Given the description of an element on the screen output the (x, y) to click on. 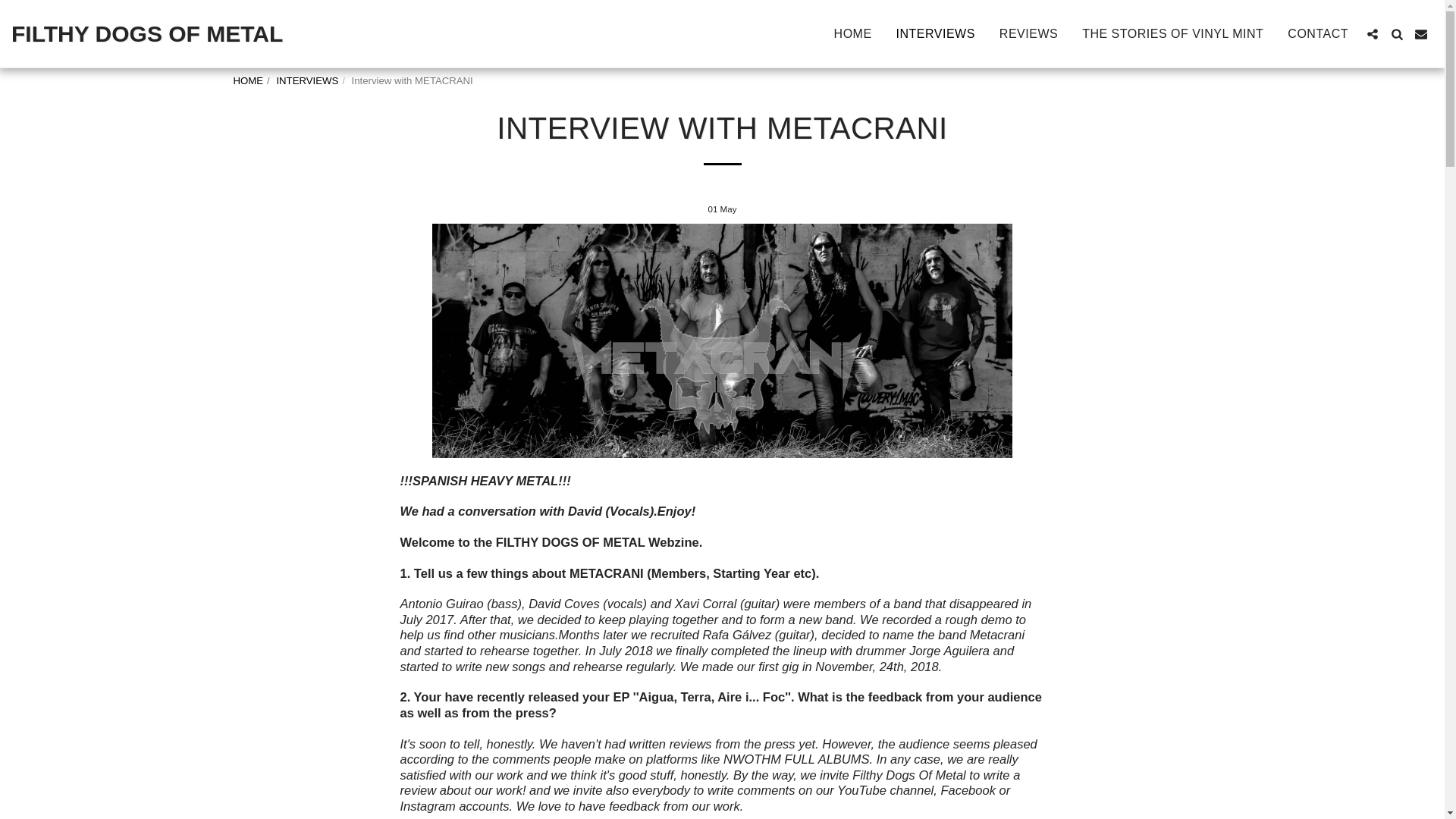
THE STORIES OF VINYL MINT (1172, 33)
REVIEWS (1028, 33)
FILTHY DOGS OF METAL (146, 33)
CONTACT (1317, 33)
INTERVIEWS (306, 80)
INTERVIEWS (936, 33)
HOME (247, 80)
HOME (852, 33)
